Given the description of an element on the screen output the (x, y) to click on. 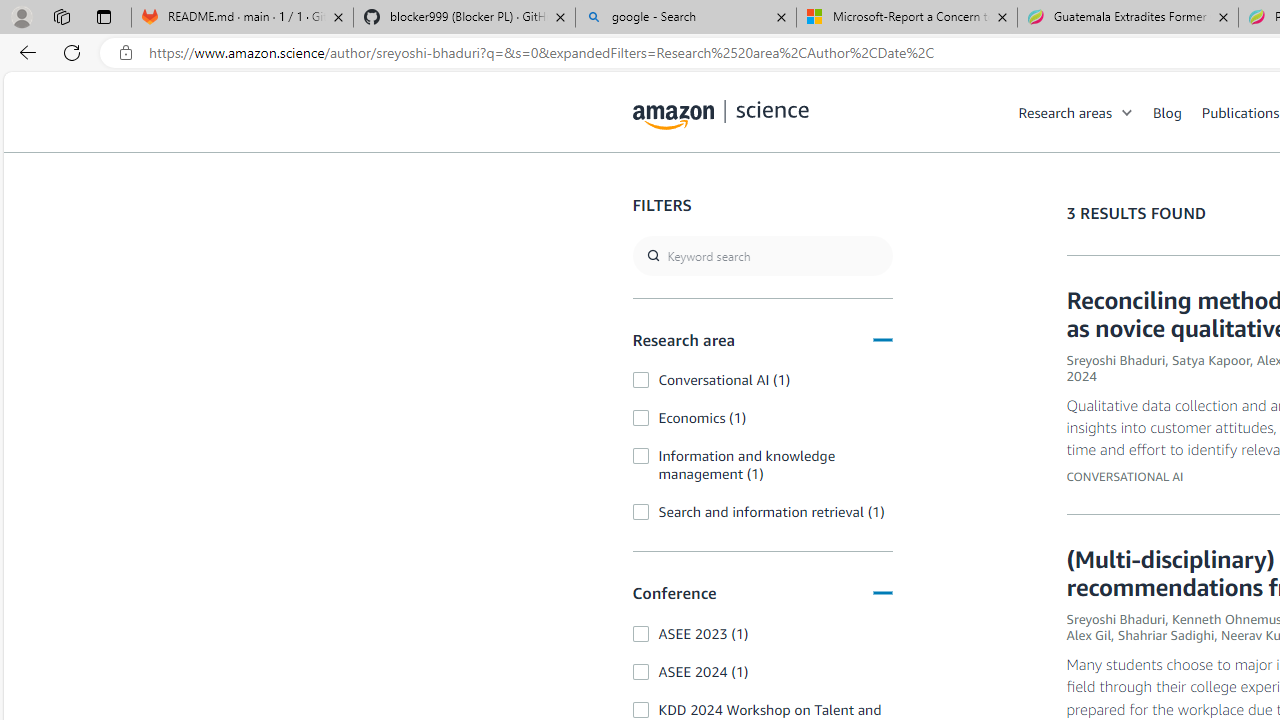
Shahriar Sadighi (1165, 635)
CONVERSATIONAL AI (1125, 476)
search (762, 256)
Sreyoshi Bhaduri (1116, 619)
Publications (1240, 111)
Blog (1177, 111)
